Given the description of an element on the screen output the (x, y) to click on. 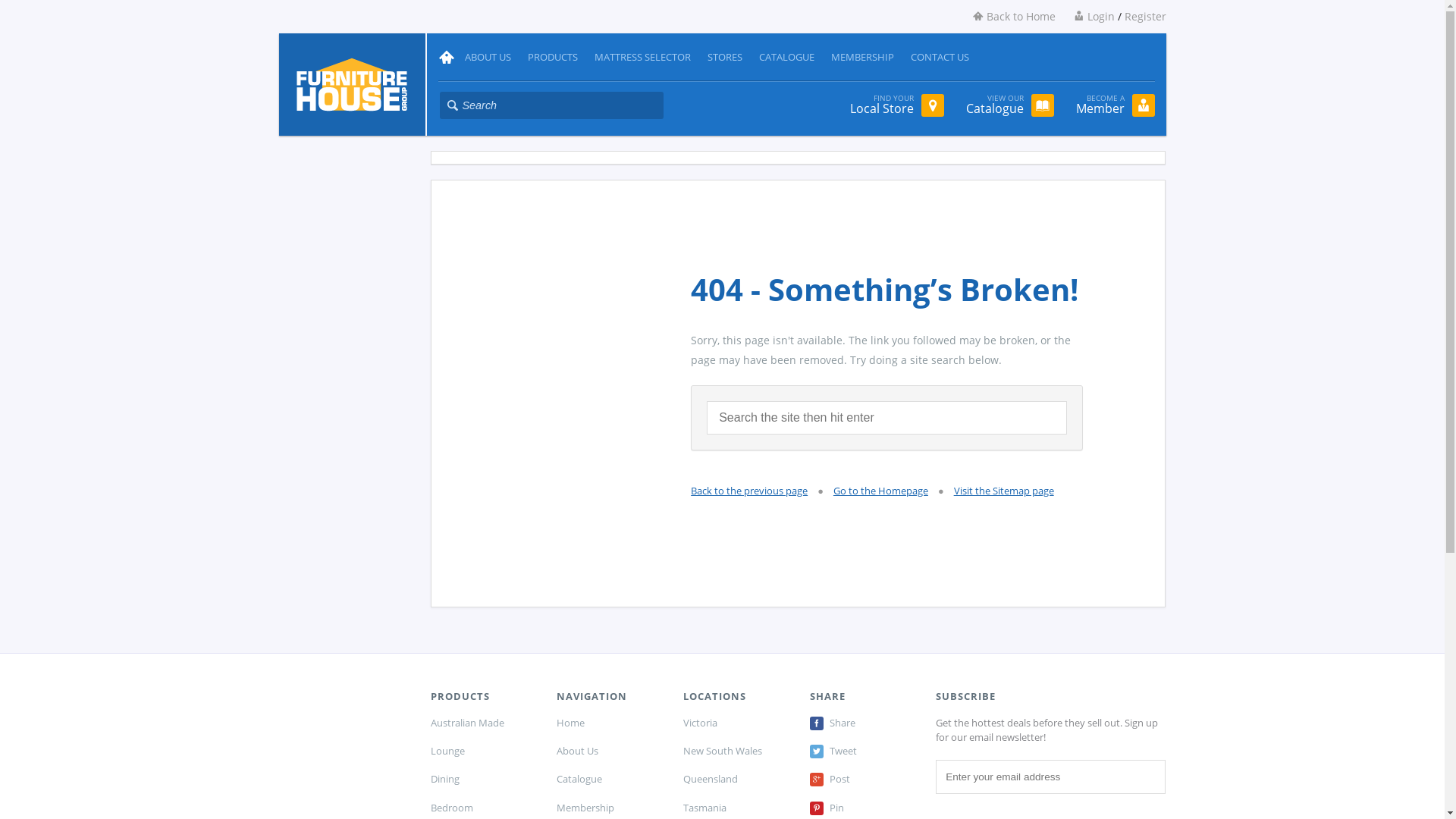
Go to the Homepage Element type: text (880, 490)
BECOME A
Member Element type: text (1114, 105)
Lounge Element type: text (482, 750)
Catalogue Element type: text (608, 778)
Bedroom Element type: text (482, 807)
Register Element type: text (1144, 16)
Back to the previous page Element type: text (748, 490)
STORES Element type: text (724, 57)
Share Element type: text (861, 722)
Pin Element type: text (861, 807)
Dining Element type: text (482, 778)
CATALOGUE Element type: text (786, 57)
HOME Element type: text (448, 52)
ABOUT US Element type: text (487, 57)
MEMBERSHIP Element type: text (862, 57)
Search Element type: text (1066, 400)
Queensland Element type: text (735, 778)
Tasmania Element type: text (735, 807)
Login Element type: text (1086, 16)
Tweet Element type: text (861, 750)
Home Element type: text (608, 722)
Go back to Home Element type: hover (351, 82)
FIND YOUR
Local Store Element type: text (896, 105)
Australian Made Element type: text (482, 722)
New South Wales Element type: text (735, 750)
CONTACT US Element type: text (939, 57)
About Us Element type: text (608, 750)
VIEW OUR
Catalogue Element type: text (1010, 105)
Post Element type: text (861, 778)
PRODUCTS Element type: text (552, 57)
MATTRESS SELECTOR Element type: text (642, 57)
Membership Element type: text (608, 807)
Victoria Element type: text (735, 722)
Visit the Sitemap page Element type: text (1003, 490)
Back to Home Element type: text (1005, 16)
